Given the description of an element on the screen output the (x, y) to click on. 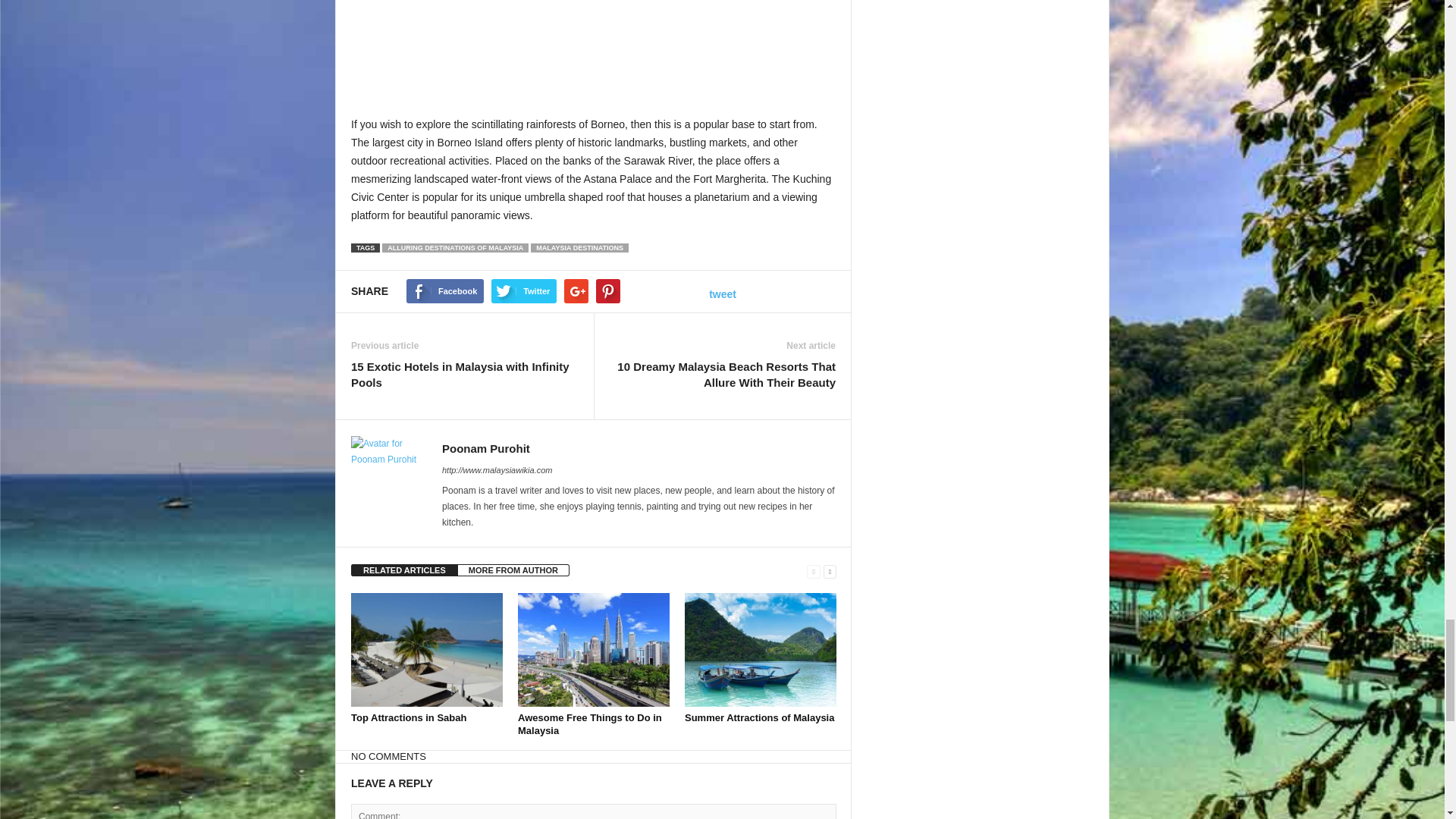
Summer Attractions of Malaysia (759, 649)
Awesome Free Things to Do in Malaysia (593, 649)
Gravatar for Poonam Purohit (388, 473)
Top Attractions in Sabah (426, 649)
Top Attractions in Sabah (407, 717)
Awesome Free Things to Do in Malaysia (590, 723)
Summer Attractions of Malaysia (759, 717)
